Given the description of an element on the screen output the (x, y) to click on. 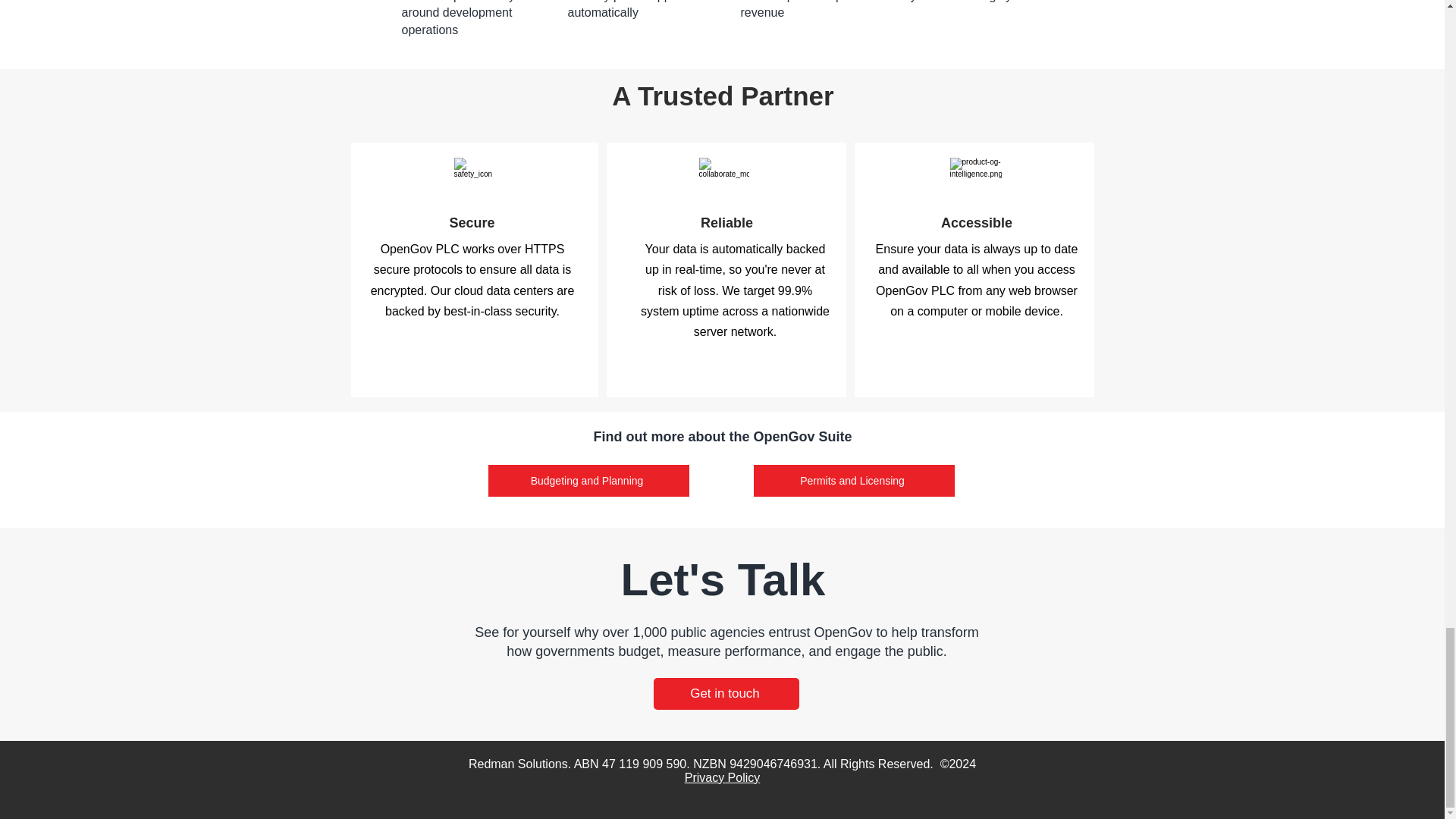
Get in touch (726, 694)
Permits and Licensing (854, 480)
Budgeting and Planning (587, 480)
Privacy Policy (722, 777)
